Given the description of an element on the screen output the (x, y) to click on. 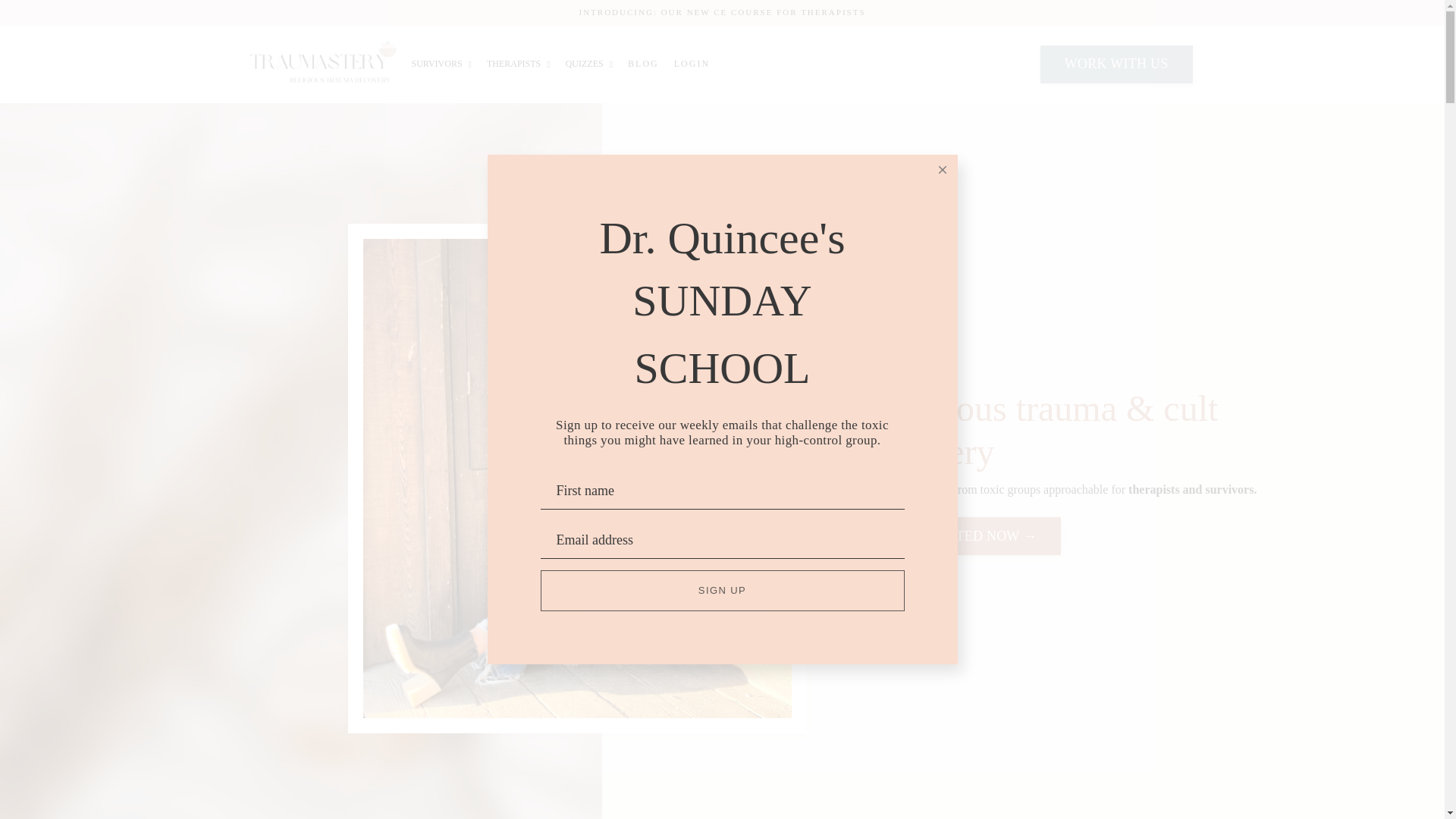
THERAPISTS (518, 63)
WORK WITH US (1116, 64)
LOGIN (692, 63)
SURVIVORS (440, 63)
QUIZZES (589, 63)
BLOG (643, 63)
